Given the description of an element on the screen output the (x, y) to click on. 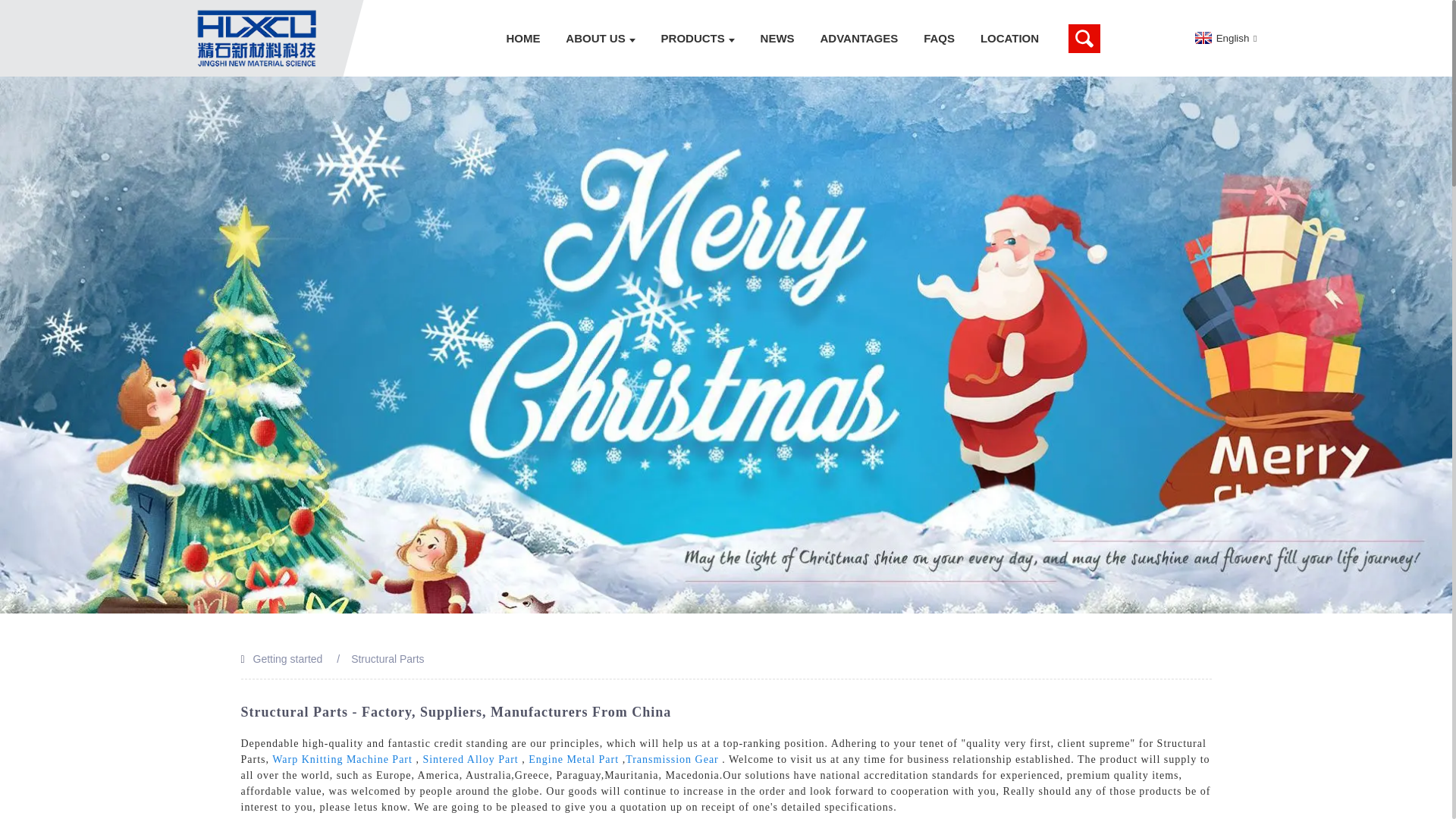
PRODUCTS (697, 37)
FAQS (939, 37)
Warp Knitting Machine Part (342, 758)
Transmission Gear (672, 758)
HOME (523, 37)
Getting started (288, 658)
ABOUT US (600, 37)
LOCATION (1009, 37)
NEWS (777, 37)
Sintered Alloy Part (470, 758)
